Given the description of an element on the screen output the (x, y) to click on. 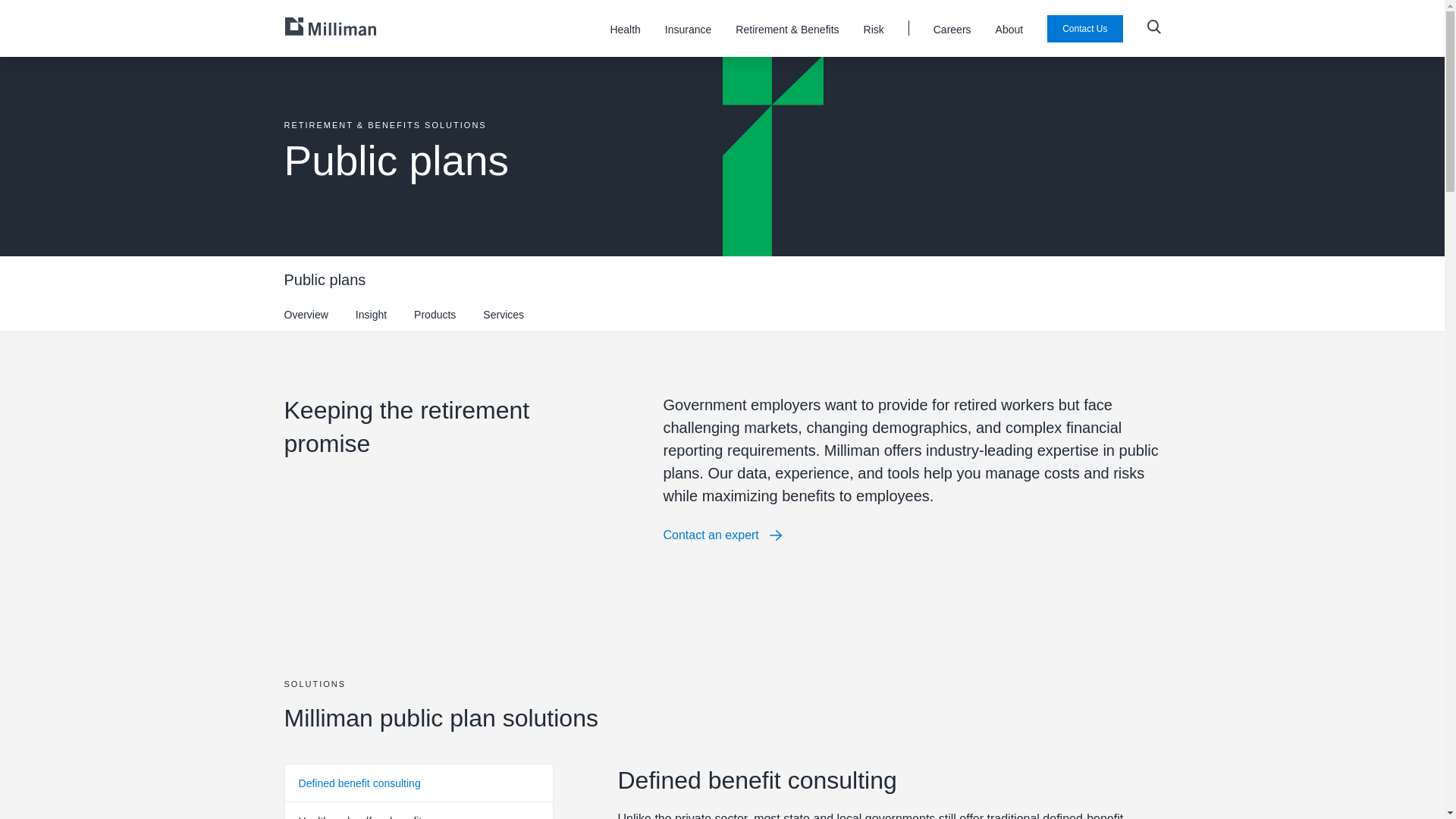
Health (624, 35)
Skip to main content (43, 36)
